Given the description of an element on the screen output the (x, y) to click on. 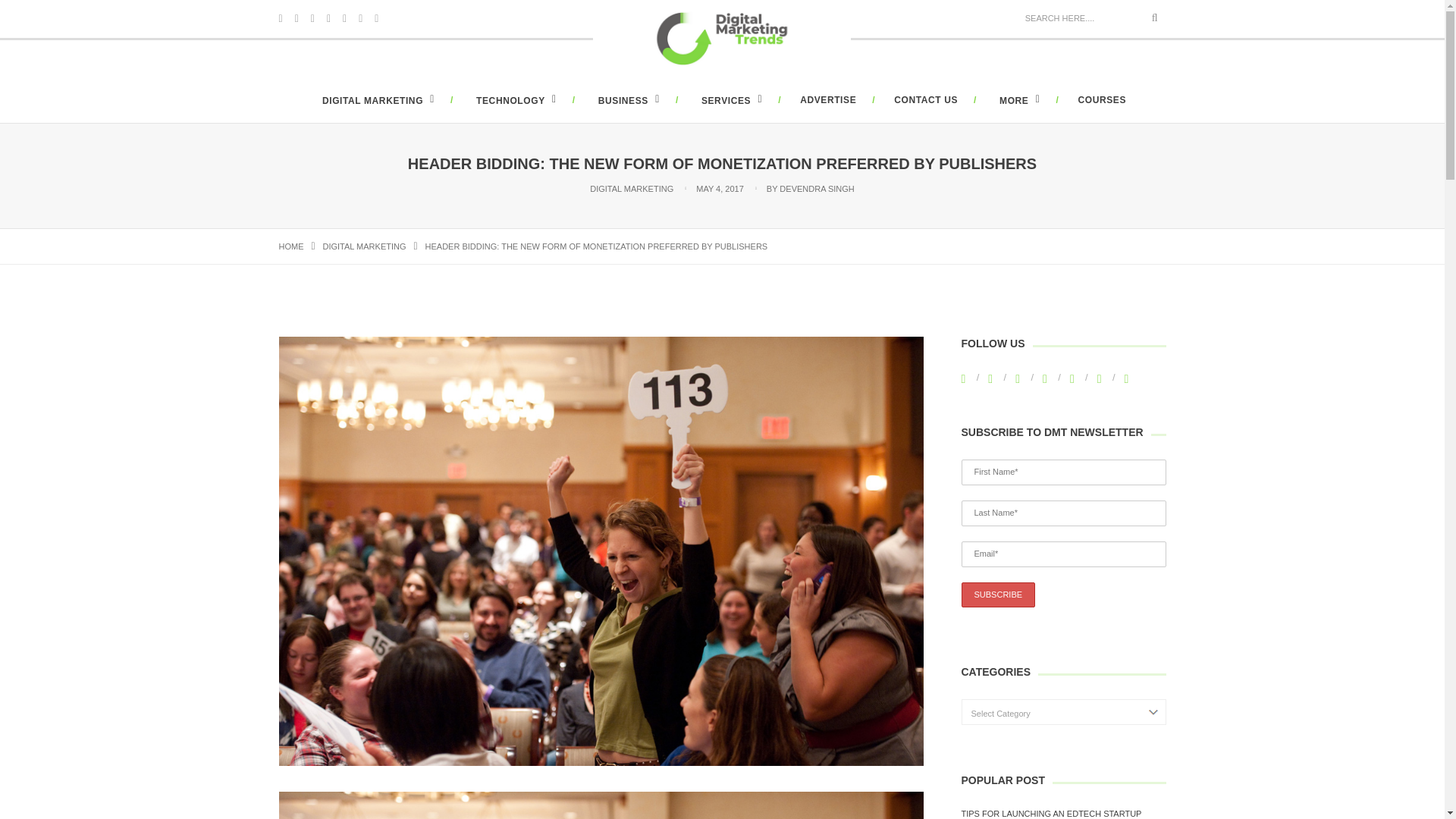
DIGITAL MARKETING (375, 101)
Browse to: Home (291, 245)
TECHNOLOGY (513, 101)
Digital Marketing (364, 245)
SUBSCRIBE (997, 595)
